Given the description of an element on the screen output the (x, y) to click on. 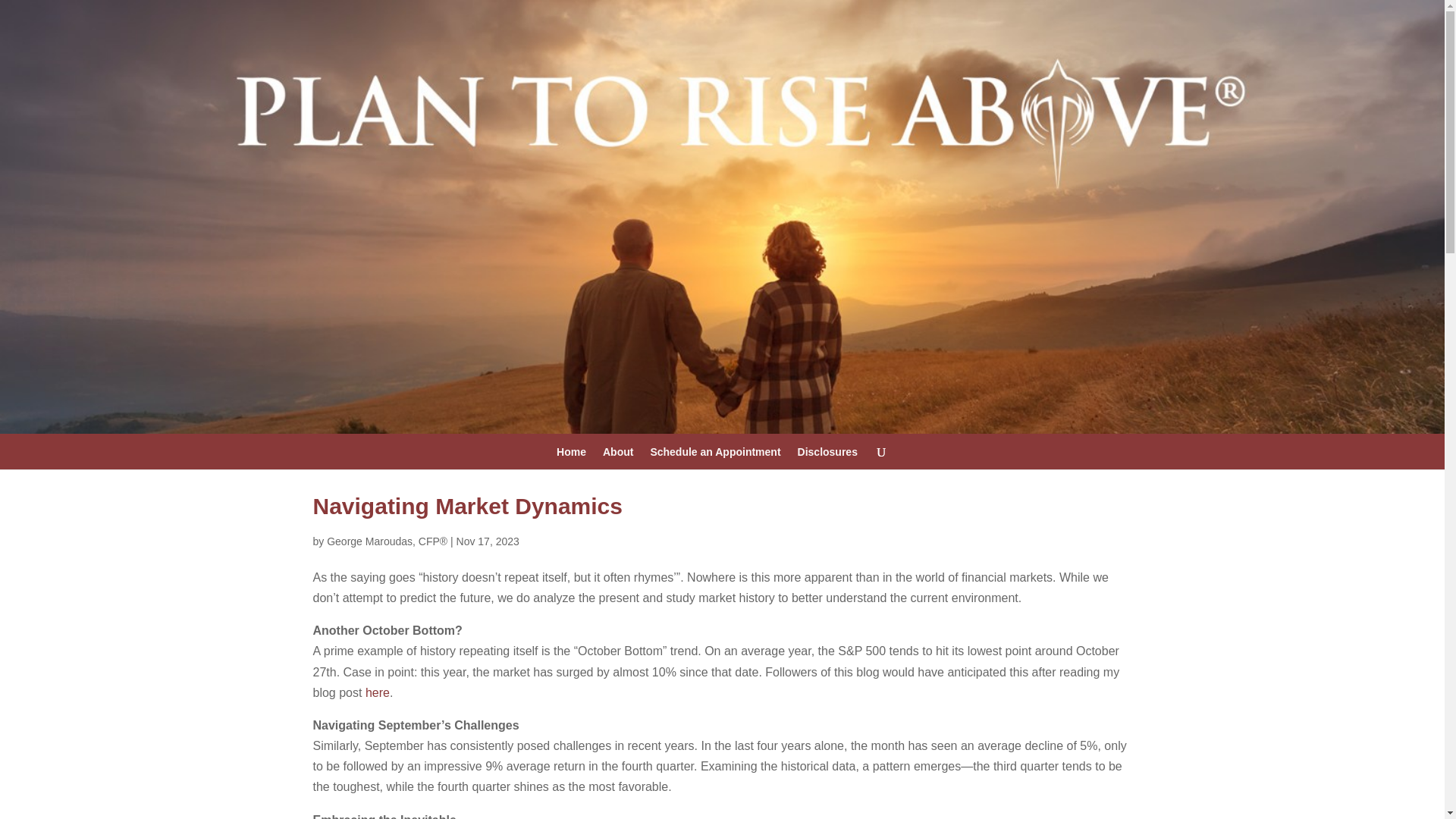
here (377, 692)
Disclosures (827, 456)
About (617, 456)
Home (571, 456)
Schedule an Appointment (714, 456)
